Given the description of an element on the screen output the (x, y) to click on. 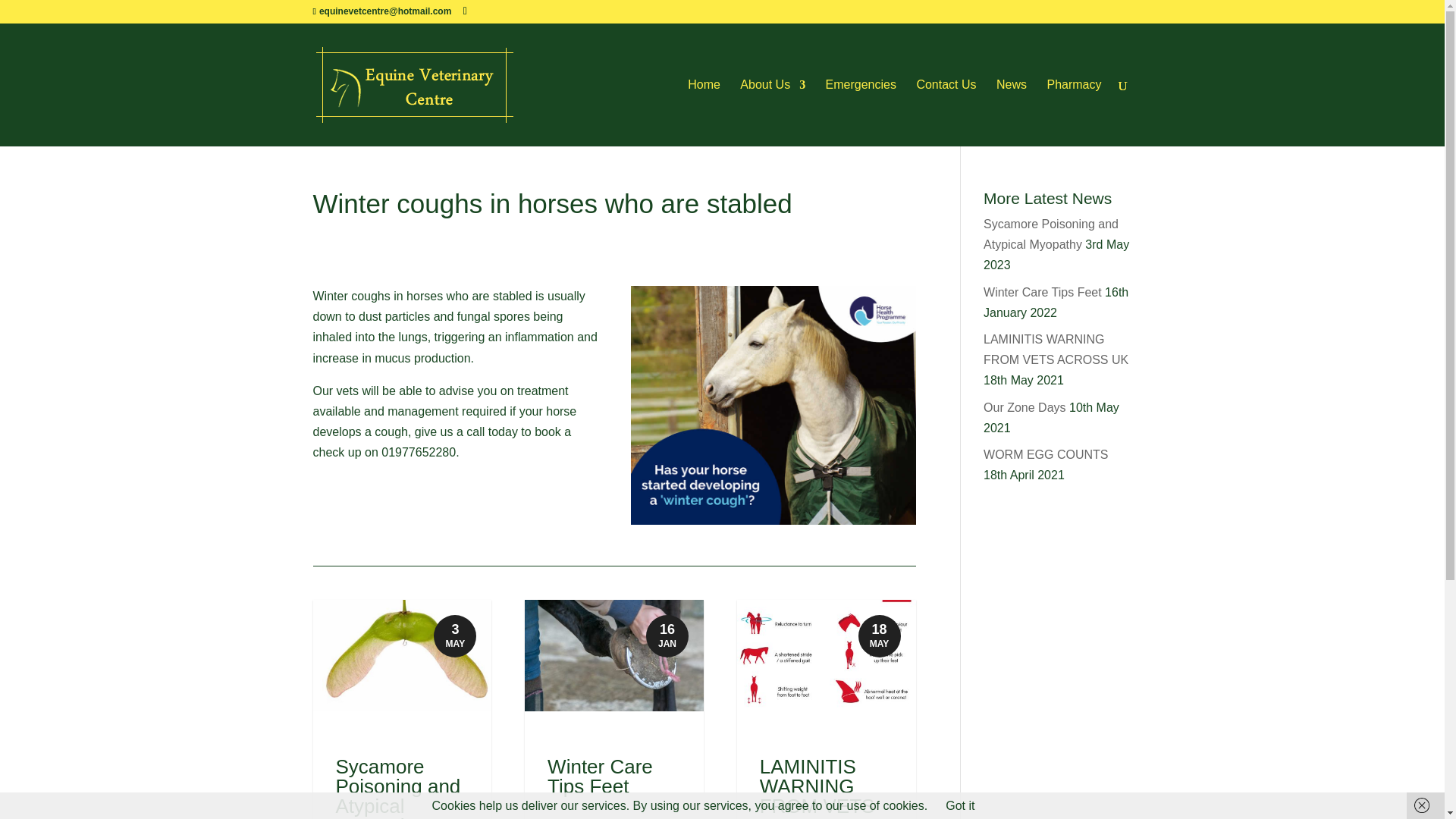
Sycamore Poisoning and Atypical Myopathy (1051, 233)
LAMINITIS WARNING FROM VETS ACROSS UK (818, 787)
Winter Care Tips Feet (599, 776)
Winter Care Tips Feet (1043, 291)
01977652280 (418, 451)
Our Zone Days (1024, 406)
Emergencies (860, 112)
LAMINITIS WARNING FROM VETS ACROSS UK (1056, 349)
Contact Us (945, 112)
About Us (772, 112)
WORM EGG COUNTS (1046, 454)
Sycamore Poisoning and Atypical Myopathy (397, 787)
